Given the description of an element on the screen output the (x, y) to click on. 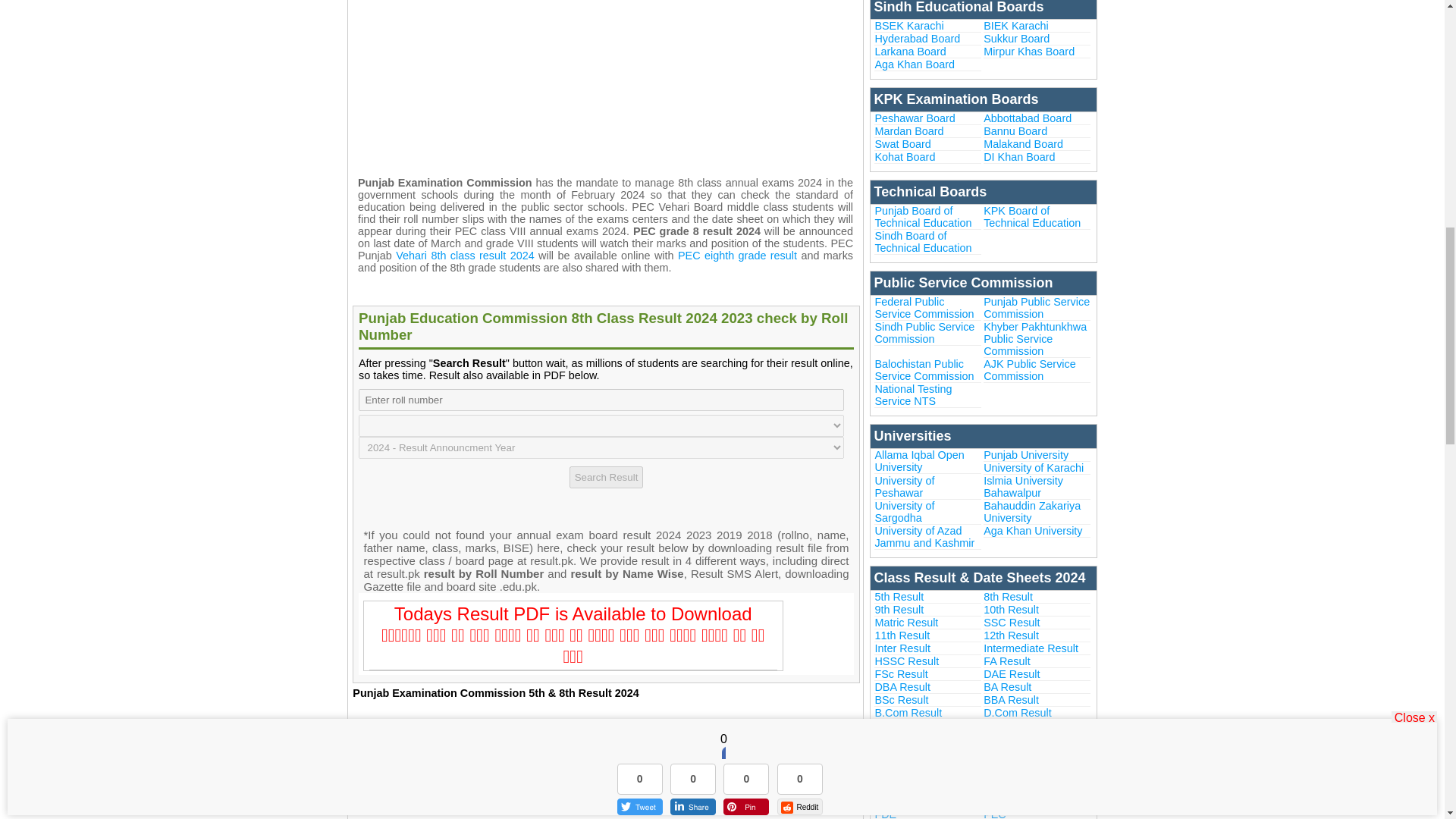
Search Result (606, 477)
Advertisement (604, 81)
